Given the description of an element on the screen output the (x, y) to click on. 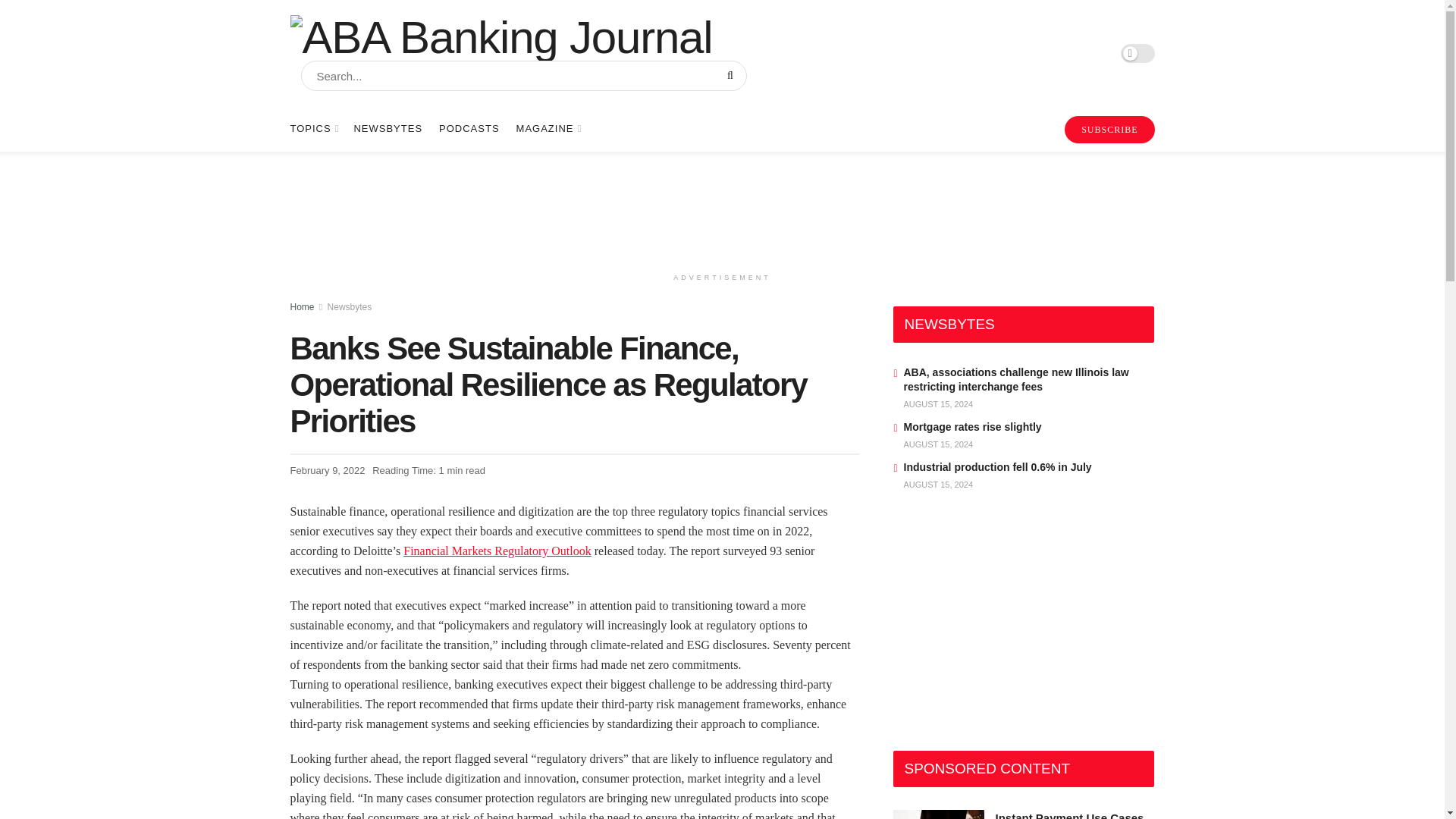
NEWSBYTES (387, 128)
3rd party ad content (1007, 625)
SUBSCRIBE (1109, 129)
3rd party ad content (721, 208)
TOPICS (312, 128)
PODCASTS (469, 128)
MAGAZINE (547, 128)
